Given the description of an element on the screen output the (x, y) to click on. 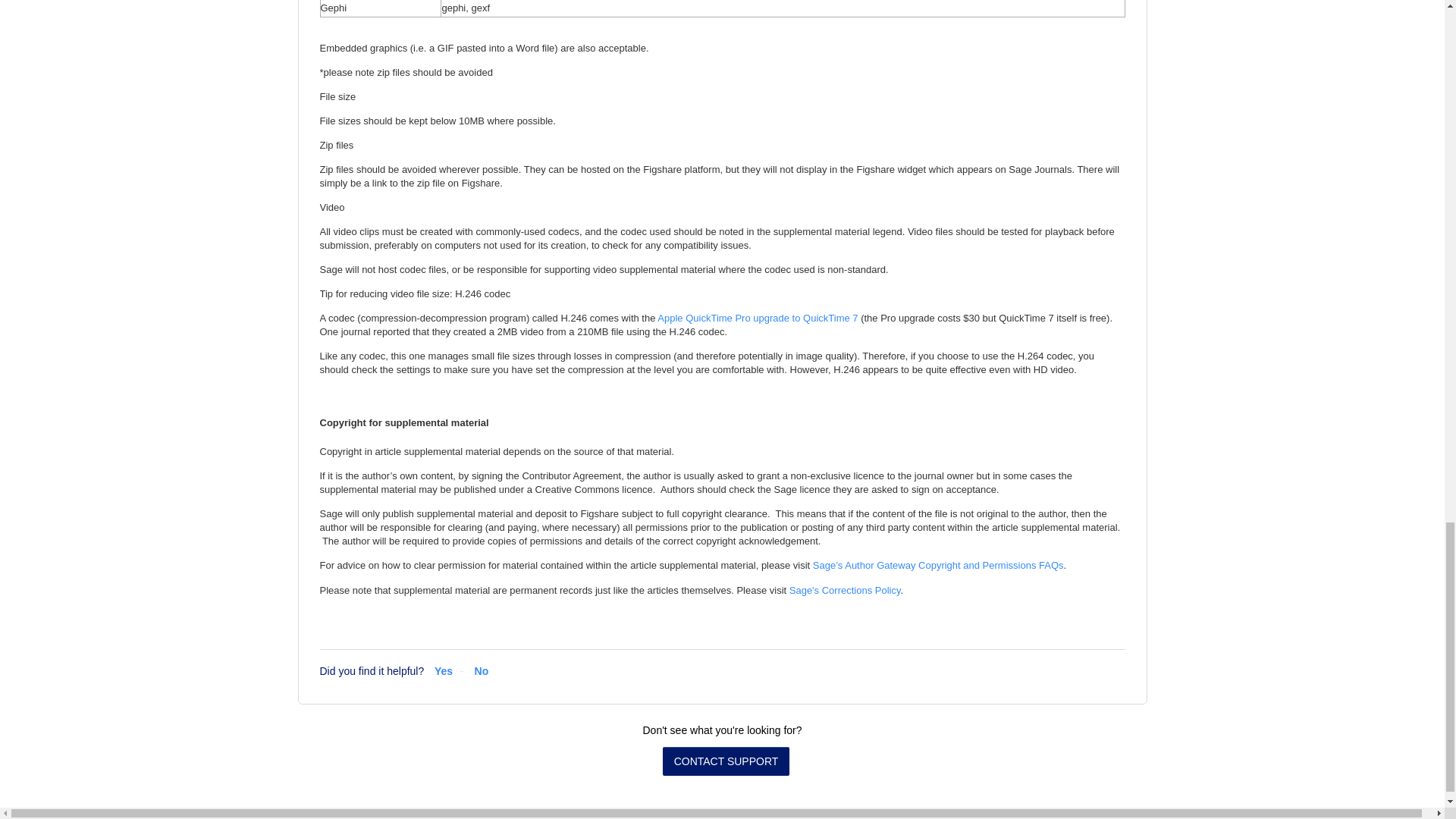
Apple QuickTime Pro upgrade to QuickTime 7 (757, 317)
CONTACT SUPPORT (726, 760)
Sage's Corrections Policy (845, 590)
